Given the description of an element on the screen output the (x, y) to click on. 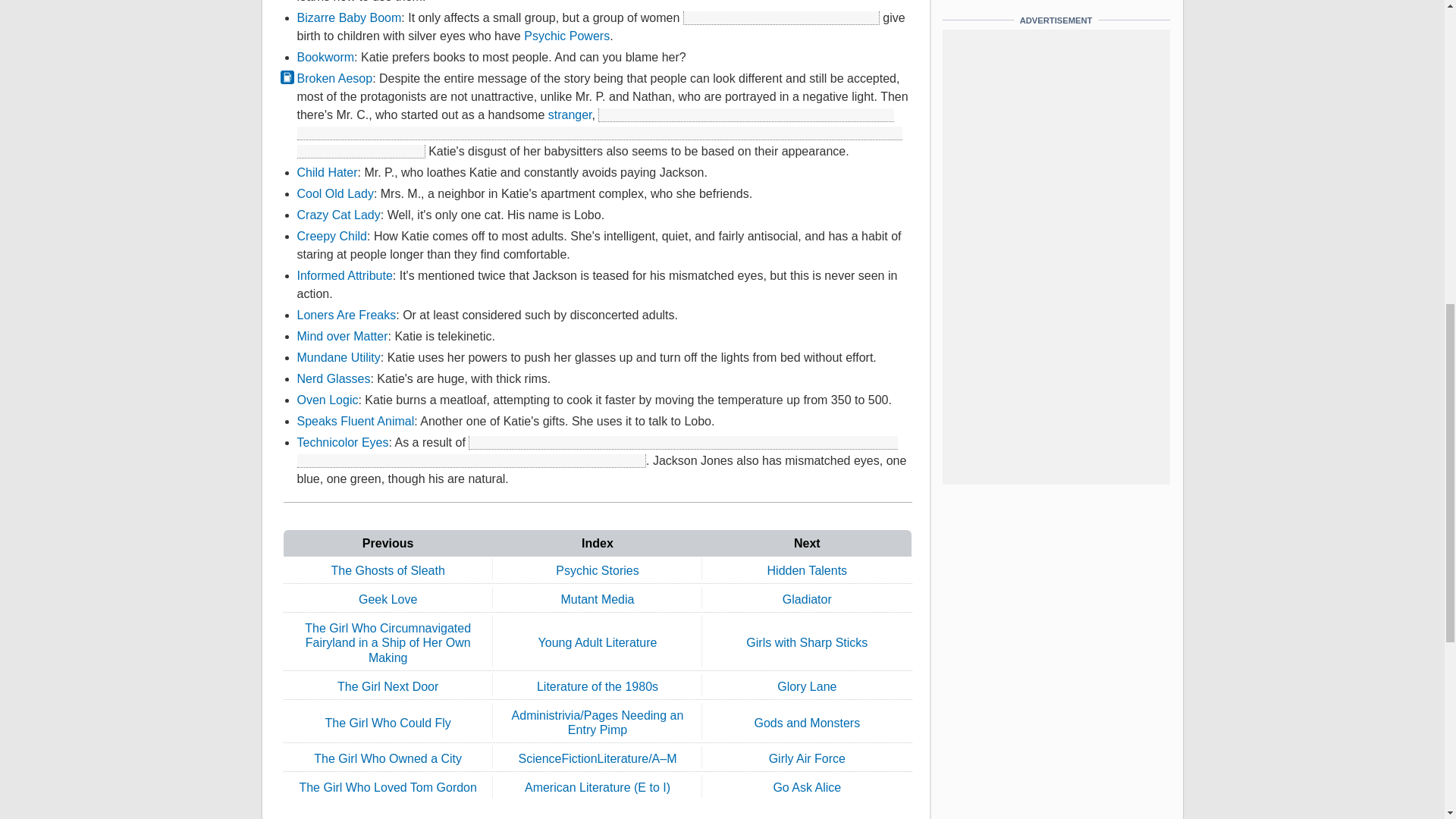
you can set spoilers visible by default on your profile (780, 18)
you can set spoilers visible by default on your profile (599, 133)
